Given the description of an element on the screen output the (x, y) to click on. 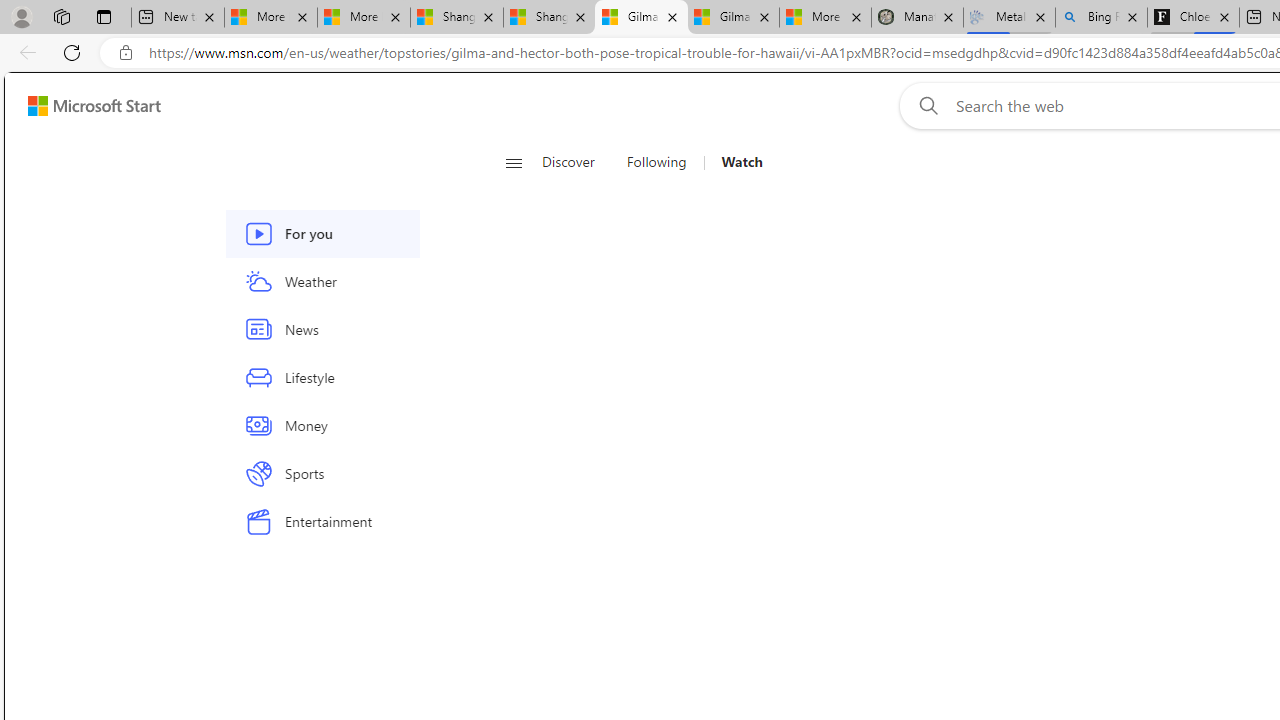
Gilma and Hector both pose tropical trouble for Hawaii (733, 17)
Discover (568, 162)
Bing Real Estate - Home sales and rental listings (1101, 17)
Watch (742, 162)
Open navigation menu (513, 162)
Class: button-glyph (513, 162)
Microsoft Start (94, 105)
Web search (924, 105)
Chloe Sorvino (1193, 17)
